Given the description of an element on the screen output the (x, y) to click on. 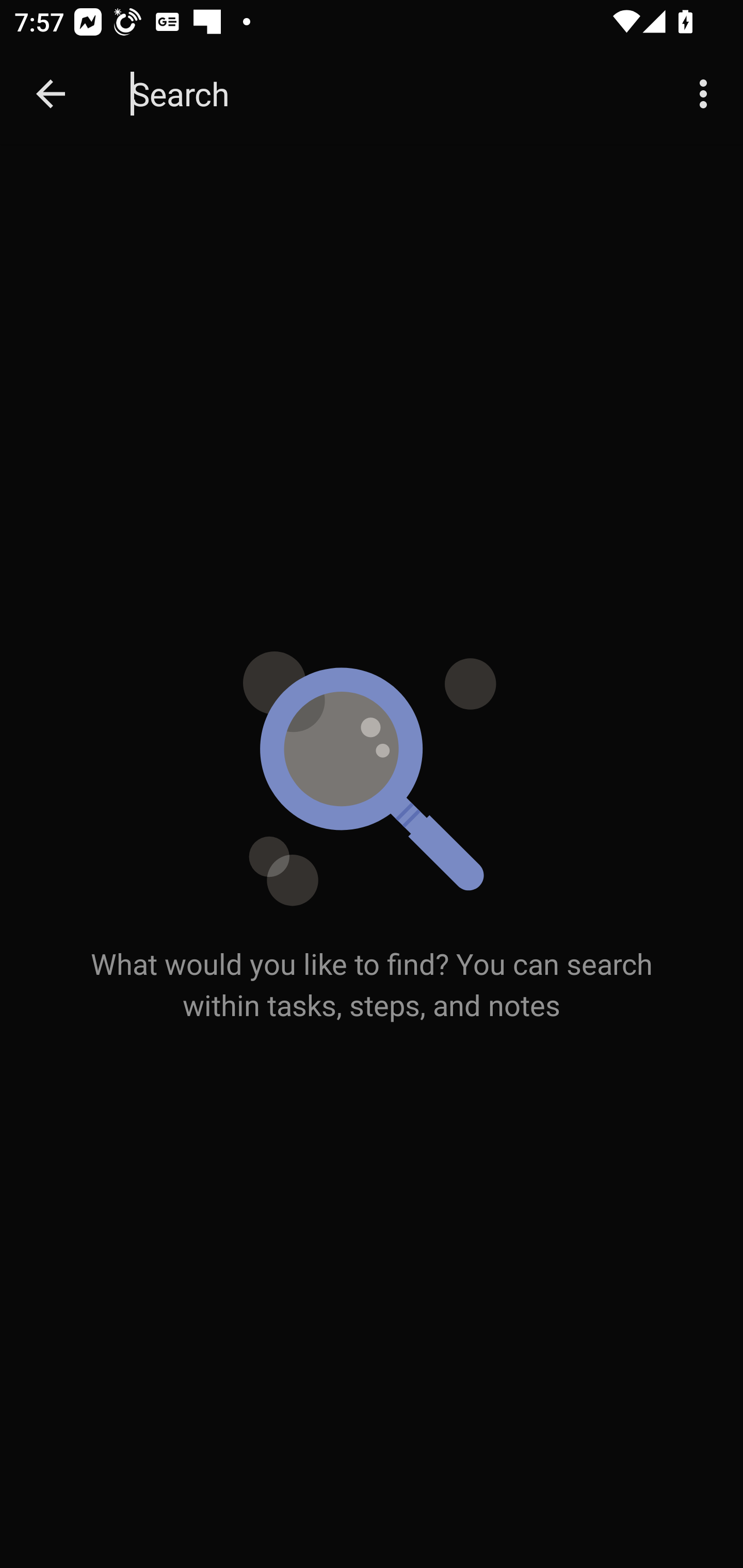
Navigate up (50, 93)
More options (706, 93)
Search (393, 94)
